Given the description of an element on the screen output the (x, y) to click on. 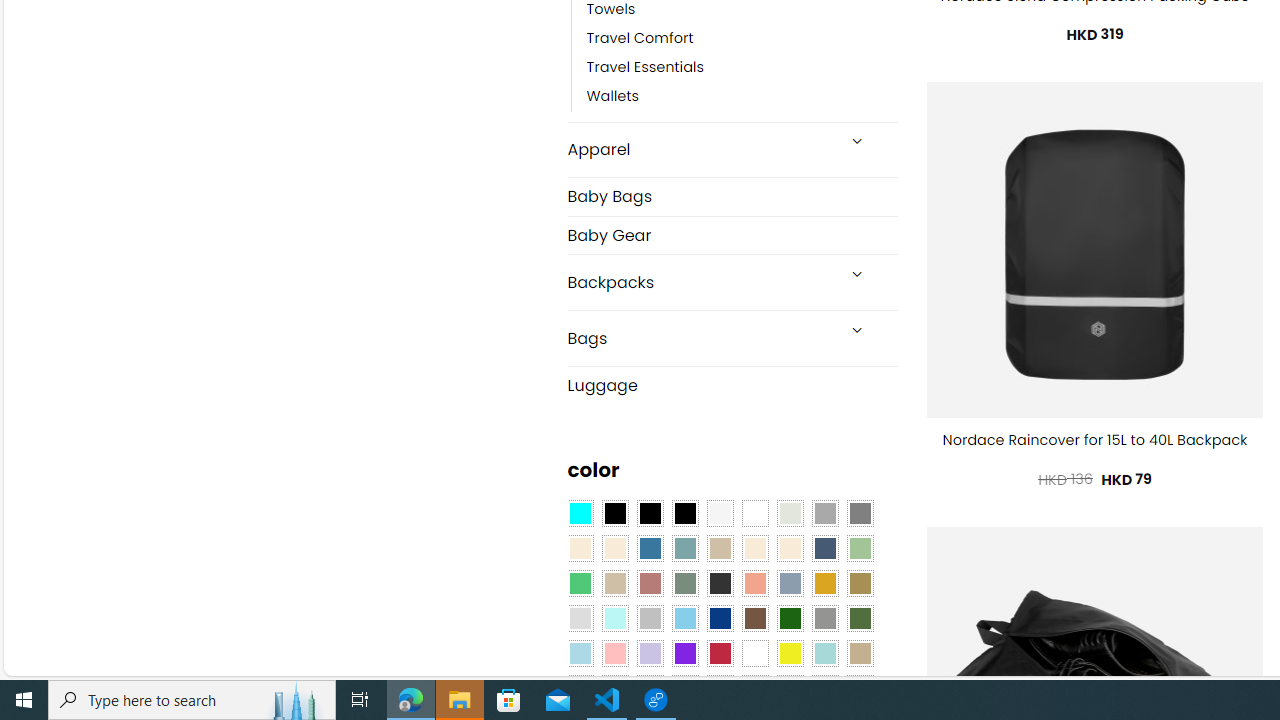
Light Gray (579, 619)
Hale Navy (824, 548)
Blue (650, 548)
Pink (614, 653)
Khaki (859, 653)
